Given the description of an element on the screen output the (x, y) to click on. 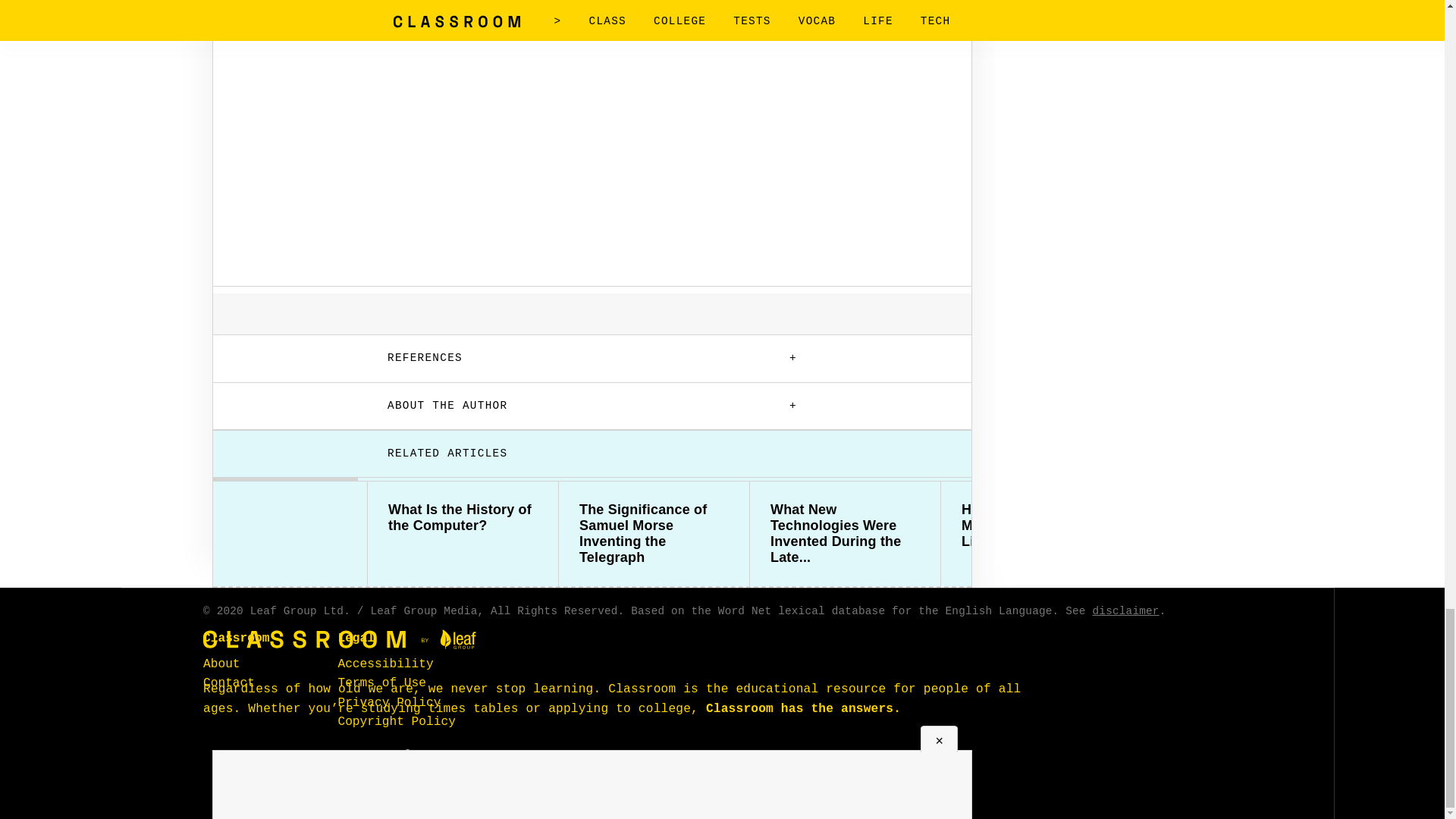
What New Technologies Were Invented During the Late... (844, 533)
About (221, 663)
Contact (228, 683)
How to Use a Baby Monitor to Find Listening Devices (1035, 525)
Types of Communication in the 1940s (1227, 525)
Copyright Policy (395, 721)
Privacy Policy (389, 702)
What Is the History of the Computer? (462, 517)
Terms of Use (381, 683)
Accessibility (384, 663)
The Significance of Samuel Morse Inventing the Telegraph (654, 533)
